Given the description of an element on the screen output the (x, y) to click on. 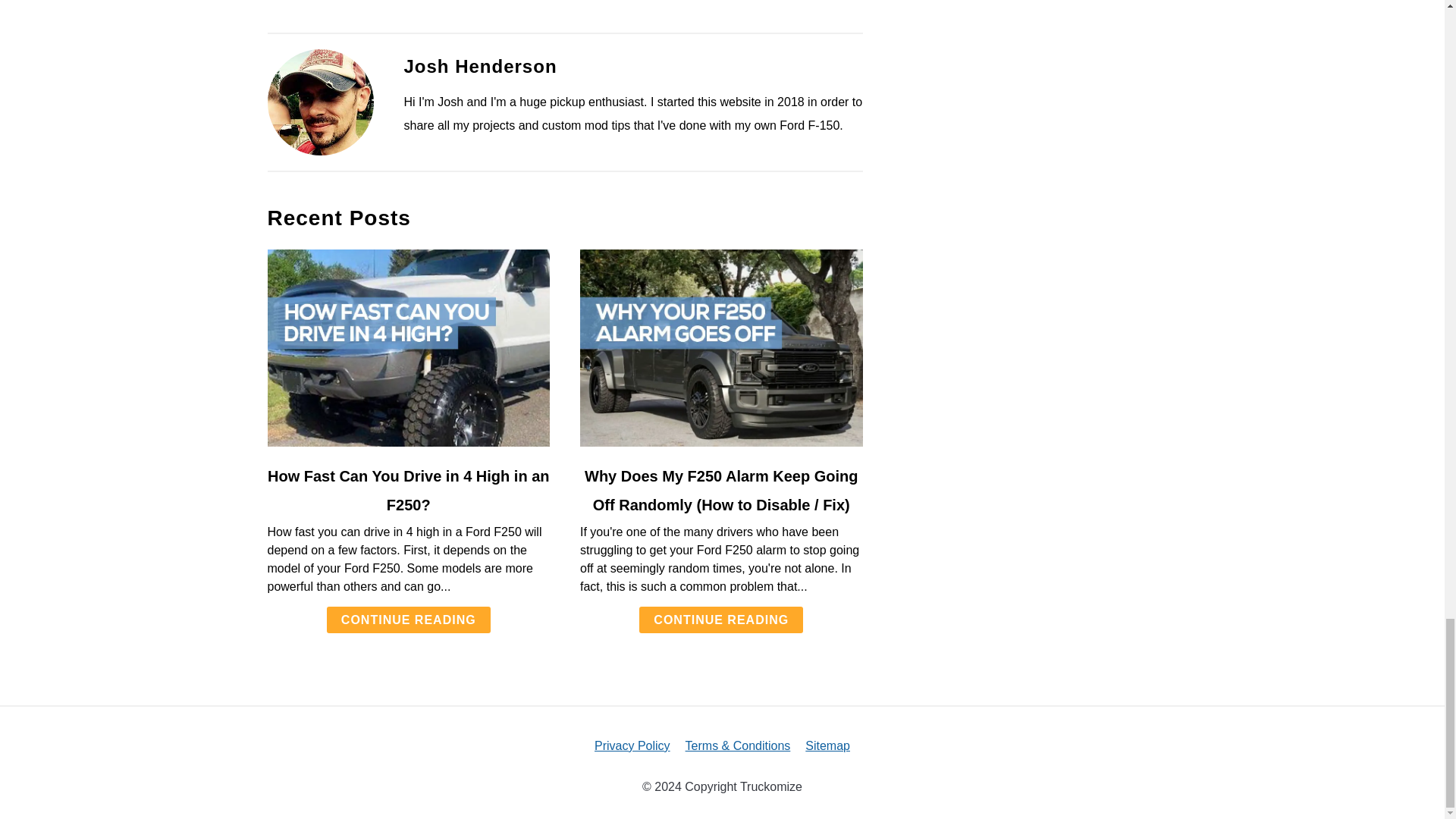
Josh Henderson (479, 66)
How Fast Can You Drive in 4 High in an F250? (408, 490)
CONTINUE READING (721, 619)
Sitemap (827, 745)
link to How Fast Can You Drive in 4 High in an F250? (408, 347)
Privacy Policy (631, 745)
CONTINUE READING (408, 619)
